Given the description of an element on the screen output the (x, y) to click on. 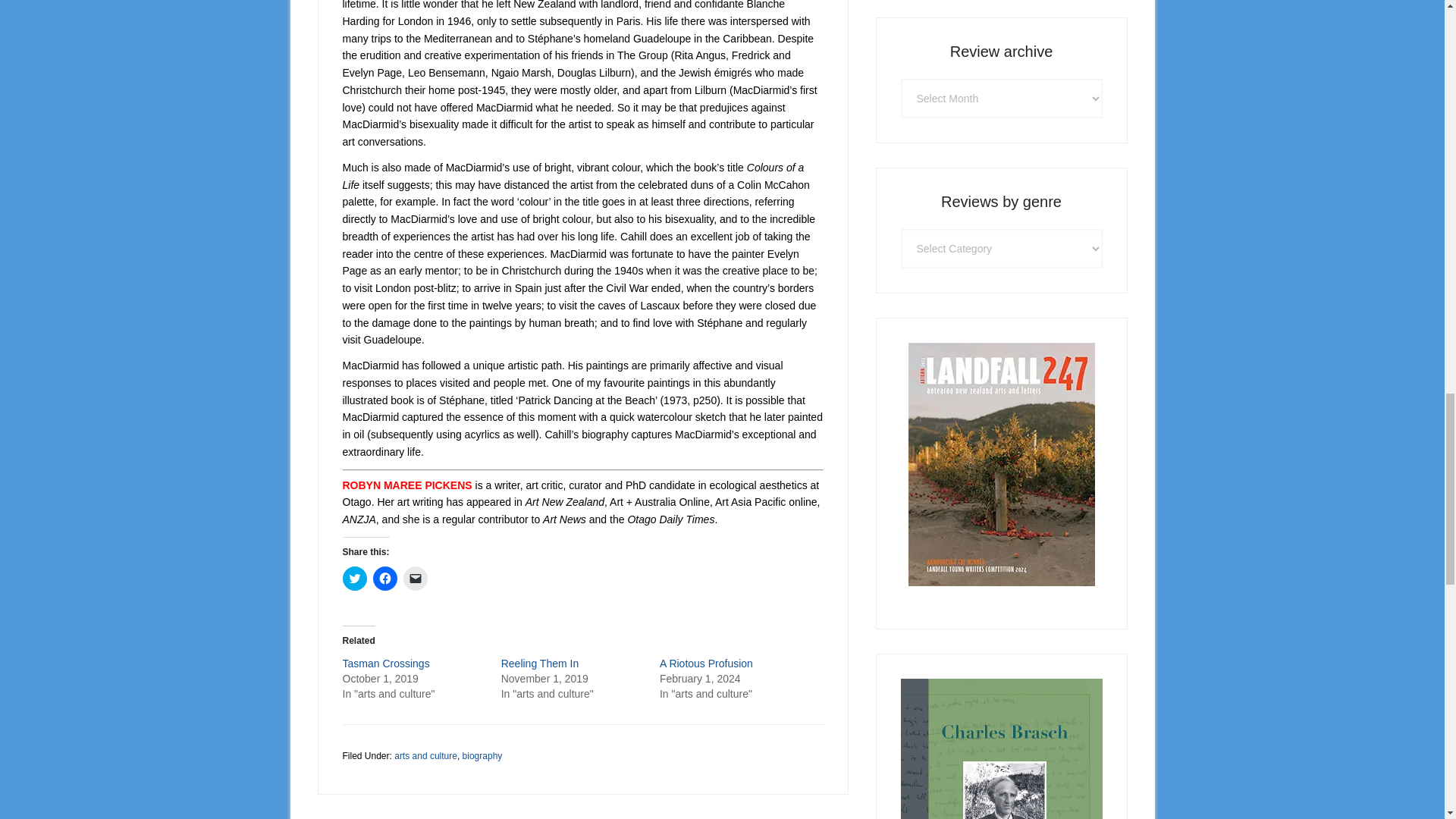
Charles Brasch Journals (1001, 748)
Reeling Them In (539, 663)
Click to email a link to a friend (415, 578)
A Riotous Profusion (705, 663)
A Riotous Profusion (705, 663)
Tasman Crossings (385, 663)
Click to share on Facebook (384, 578)
arts and culture (425, 756)
Tasman Crossings (385, 663)
Reeling Them In (539, 663)
